Given the description of an element on the screen output the (x, y) to click on. 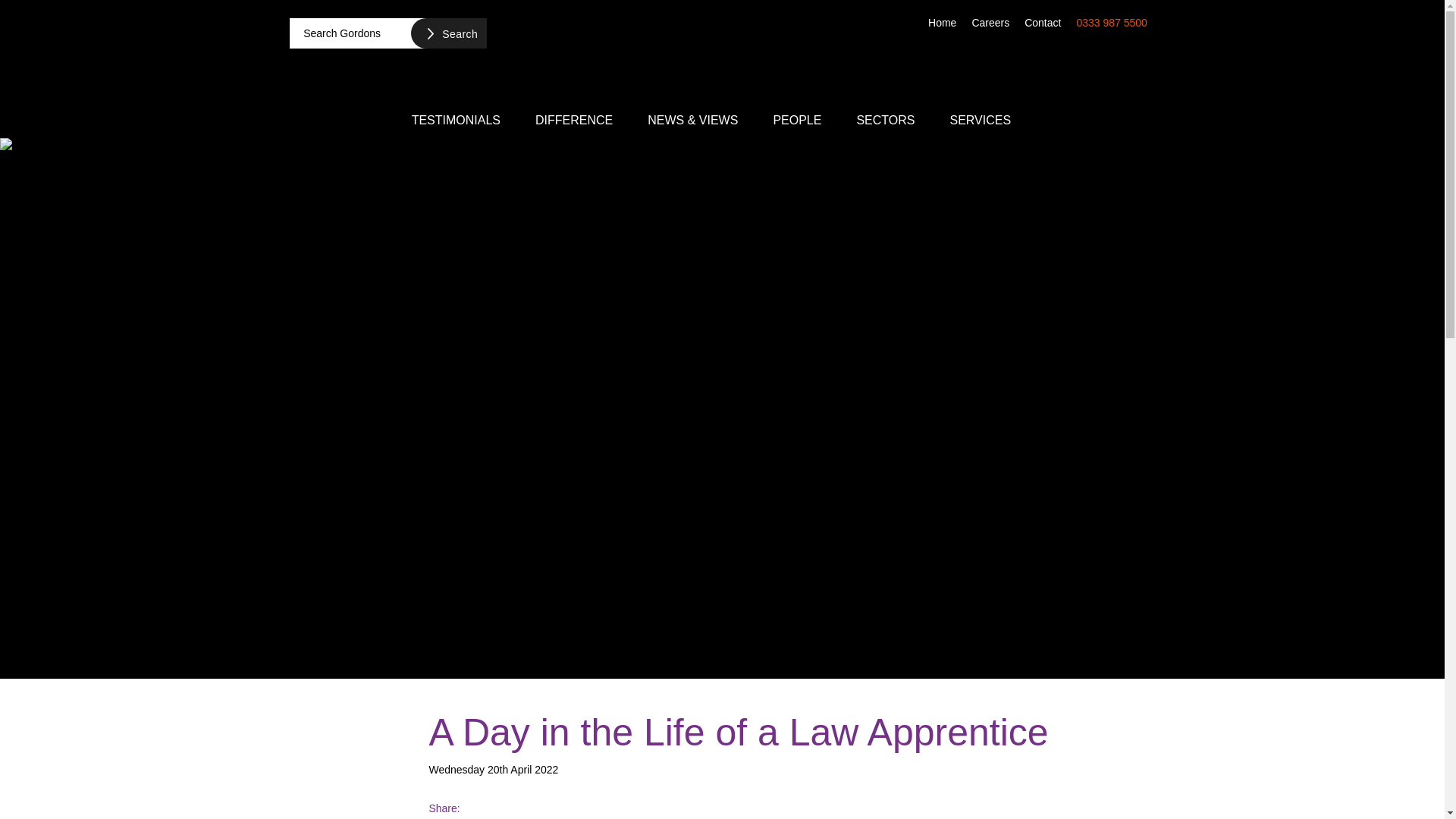
Contact (1042, 21)
Home (941, 21)
Careers (989, 21)
Gordons LLP (721, 54)
Search (448, 33)
Search (448, 33)
0333 987 5500 (1111, 21)
TESTIMONIALS (456, 119)
